Given the description of an element on the screen output the (x, y) to click on. 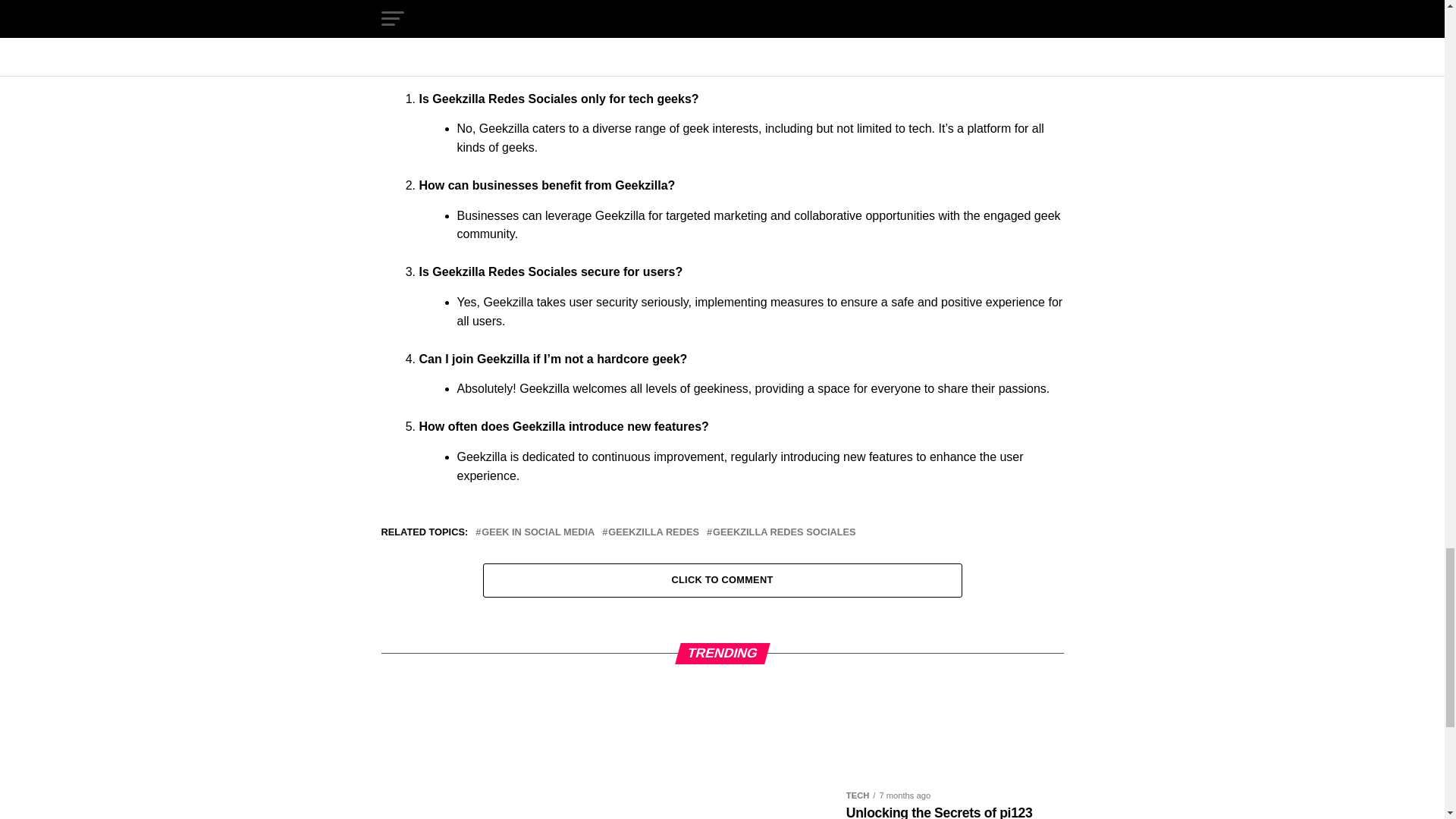
GEEK IN SOCIAL MEDIA (537, 532)
GEEKZILLA REDES SOCIALES (784, 532)
GEEKZILLA REDES (653, 532)
